Given the description of an element on the screen output the (x, y) to click on. 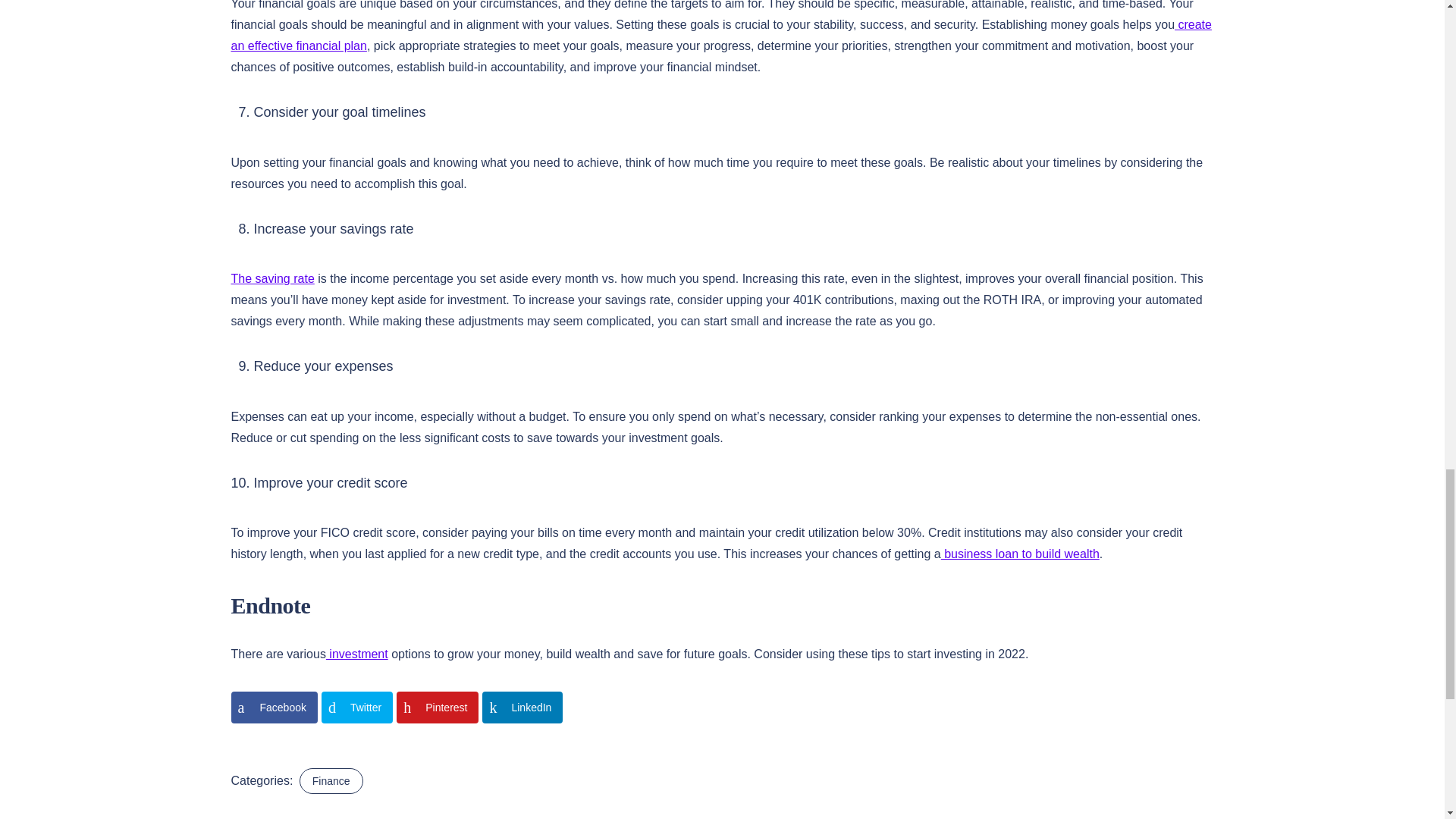
Share on Twitter (357, 707)
Share on LinkedIn (521, 707)
Share on Pinterest (437, 707)
Share on Facebook (273, 707)
